Given the description of an element on the screen output the (x, y) to click on. 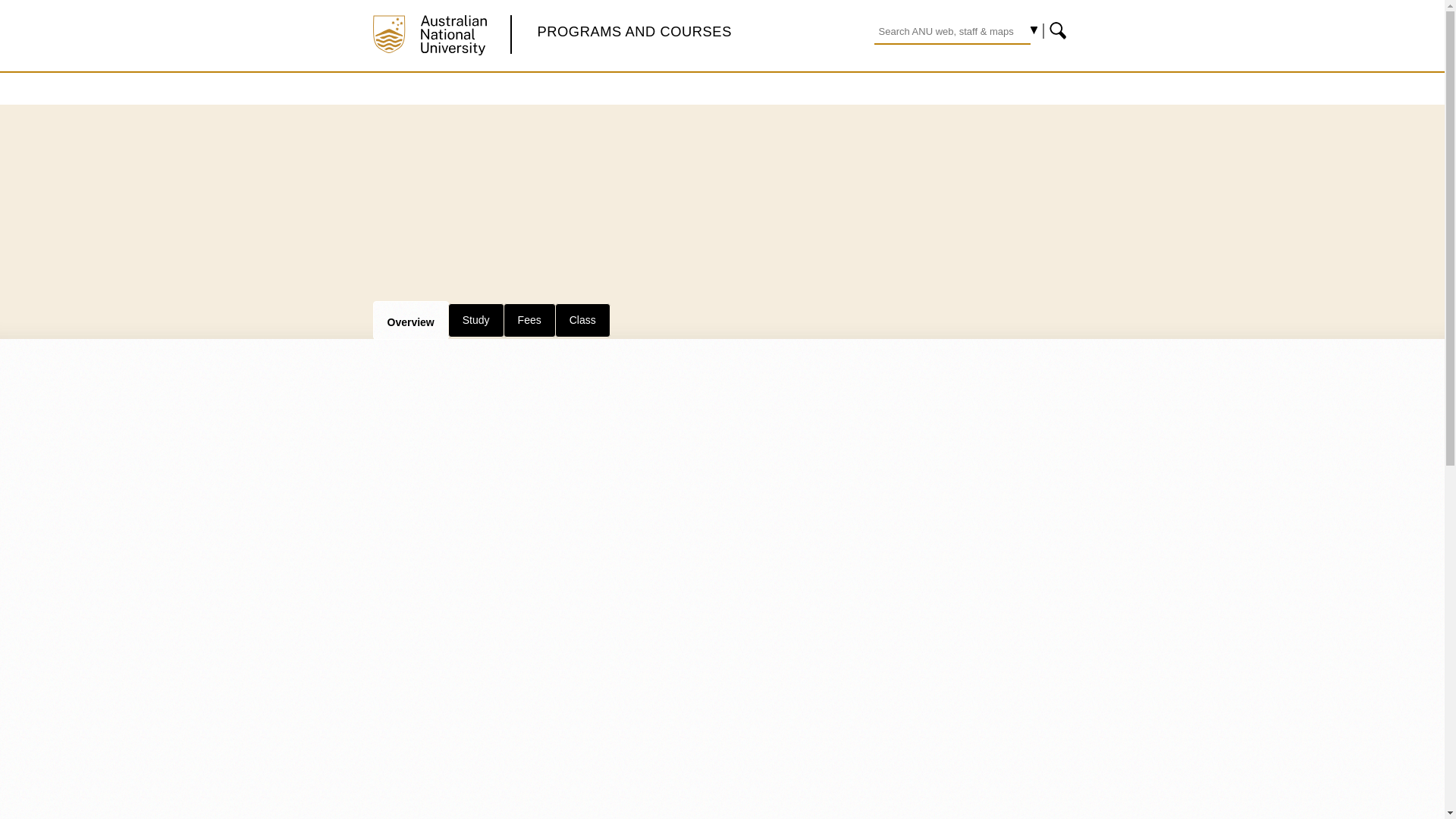
Study (475, 319)
Class (582, 319)
Fees (529, 319)
Go (1059, 30)
Overview (410, 320)
PROGRAMS AND COURSES (633, 31)
